Given the description of an element on the screen output the (x, y) to click on. 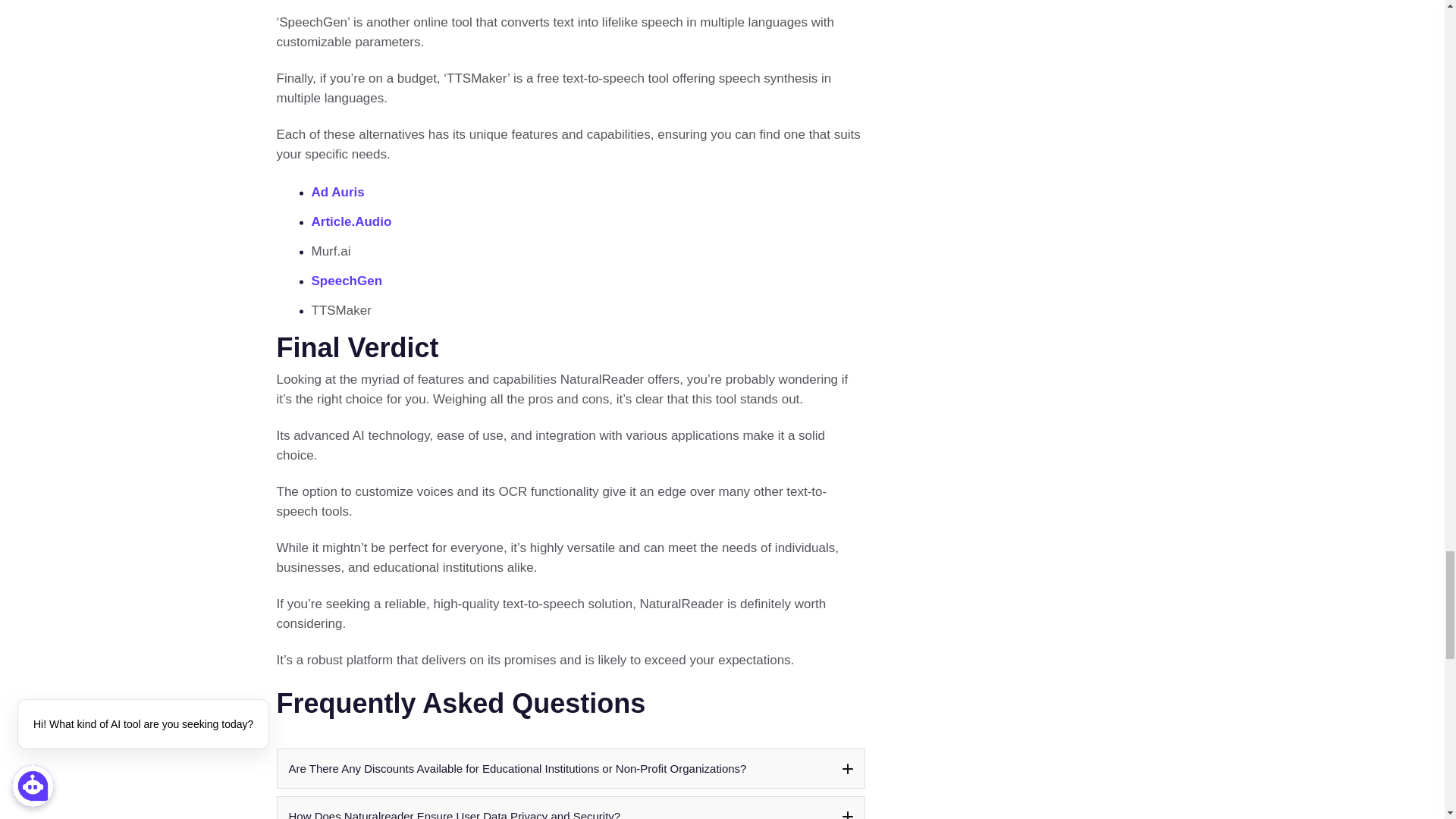
Ad Auris (337, 192)
Article.Audio (351, 221)
SpeechGen (346, 280)
